Given the description of an element on the screen output the (x, y) to click on. 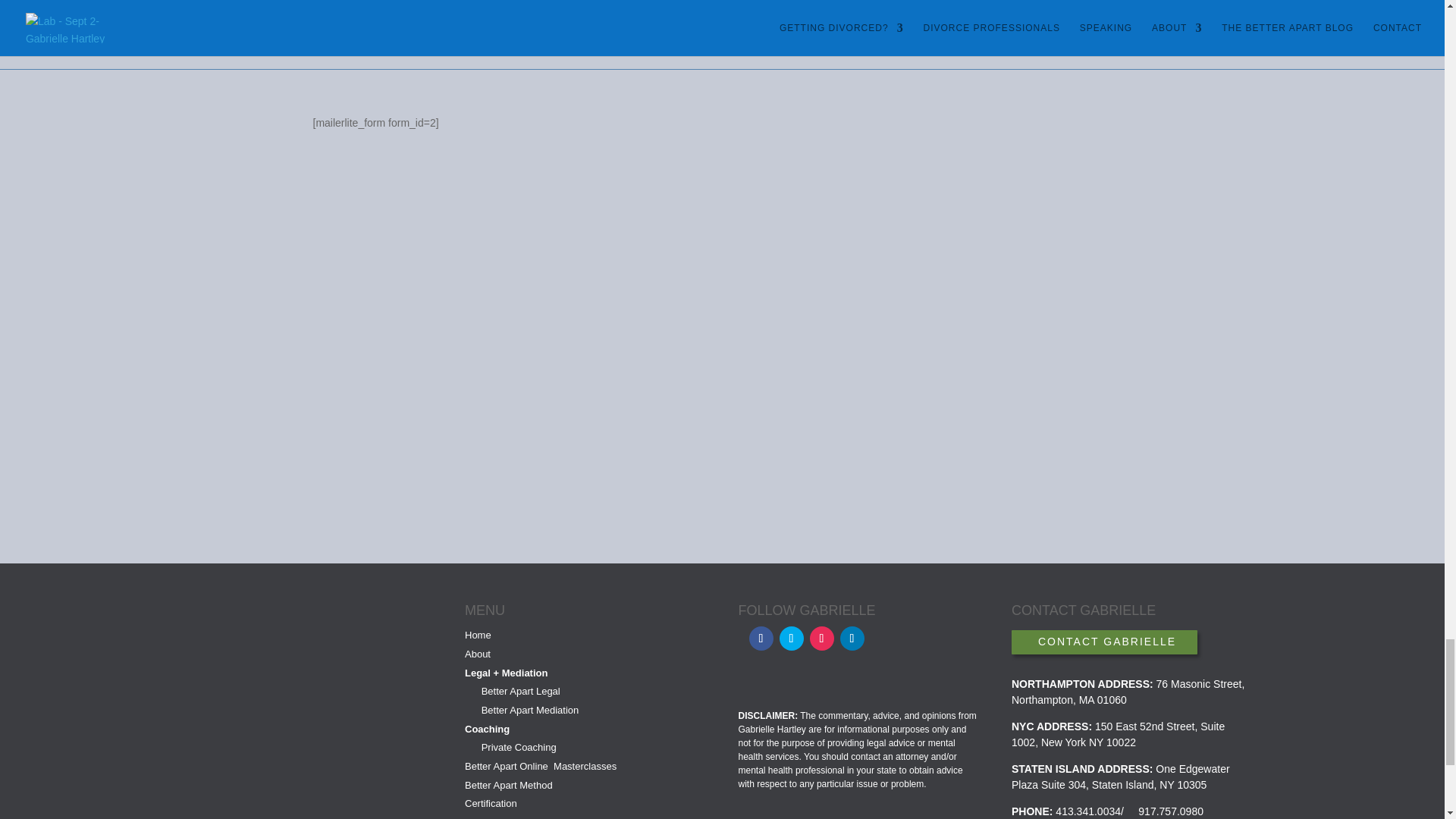
Better Apart Mediation (508, 794)
Follow on LinkedIn (530, 709)
Private Coaching (852, 638)
About (518, 747)
Home (477, 654)
Better Apart Legal (478, 634)
Better Apart Online  Masterclasses (520, 690)
Better Apart: The Book (539, 766)
Follow on Twitter (514, 817)
Follow on Facebook (790, 638)
Follow on Instagram (761, 638)
